Given the description of an element on the screen output the (x, y) to click on. 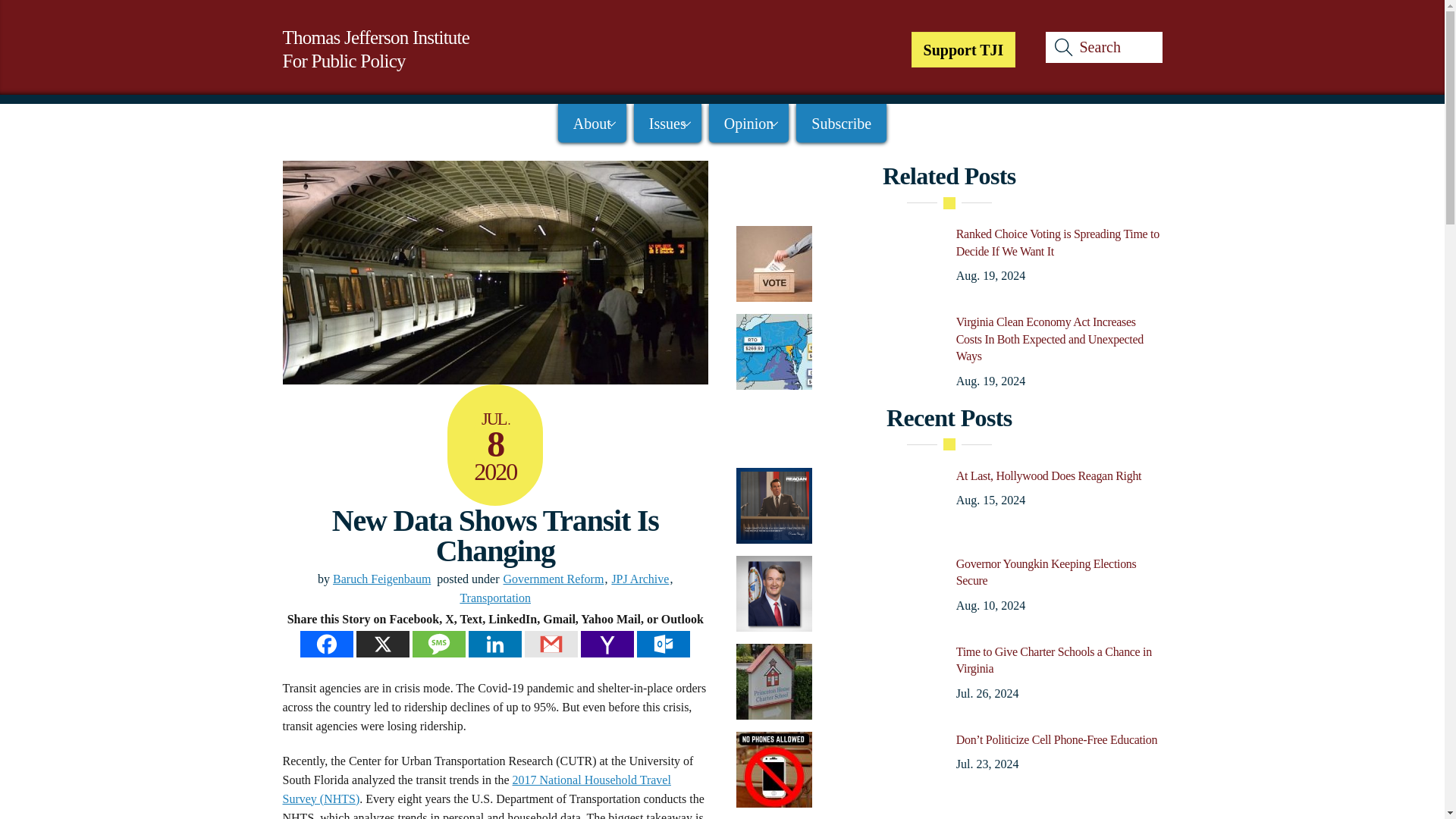
X (382, 643)
Linkedin (494, 643)
Issues (667, 123)
Search (375, 49)
Google Gmail (1103, 47)
Support TJI (551, 643)
Government Reform (963, 49)
Opinion (553, 578)
Transportation (749, 123)
